Given the description of an element on the screen output the (x, y) to click on. 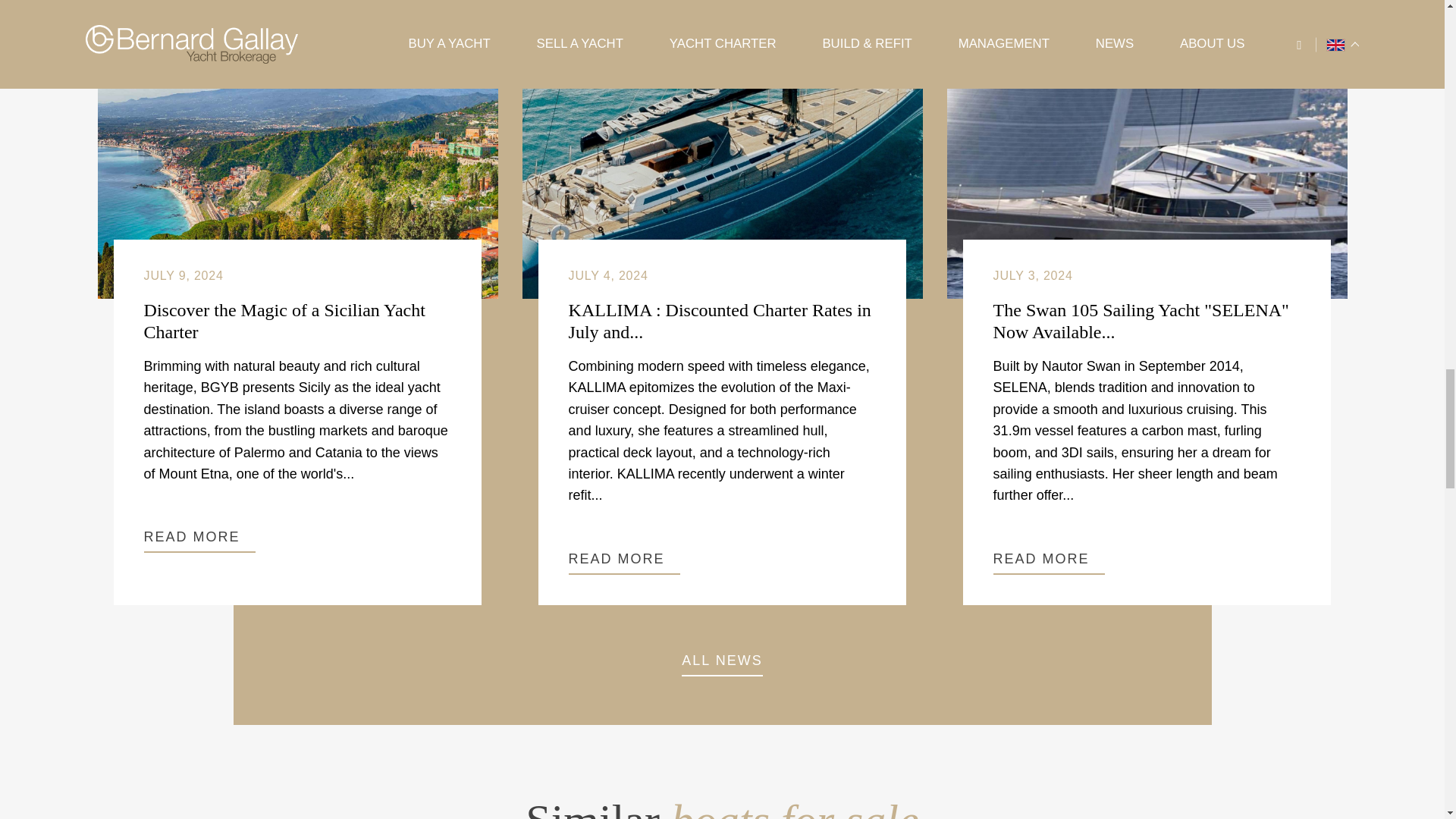
READ MORE (200, 540)
READ MORE (624, 563)
ALL NEWS (721, 664)
READ MORE (1048, 563)
